Given the description of an element on the screen output the (x, y) to click on. 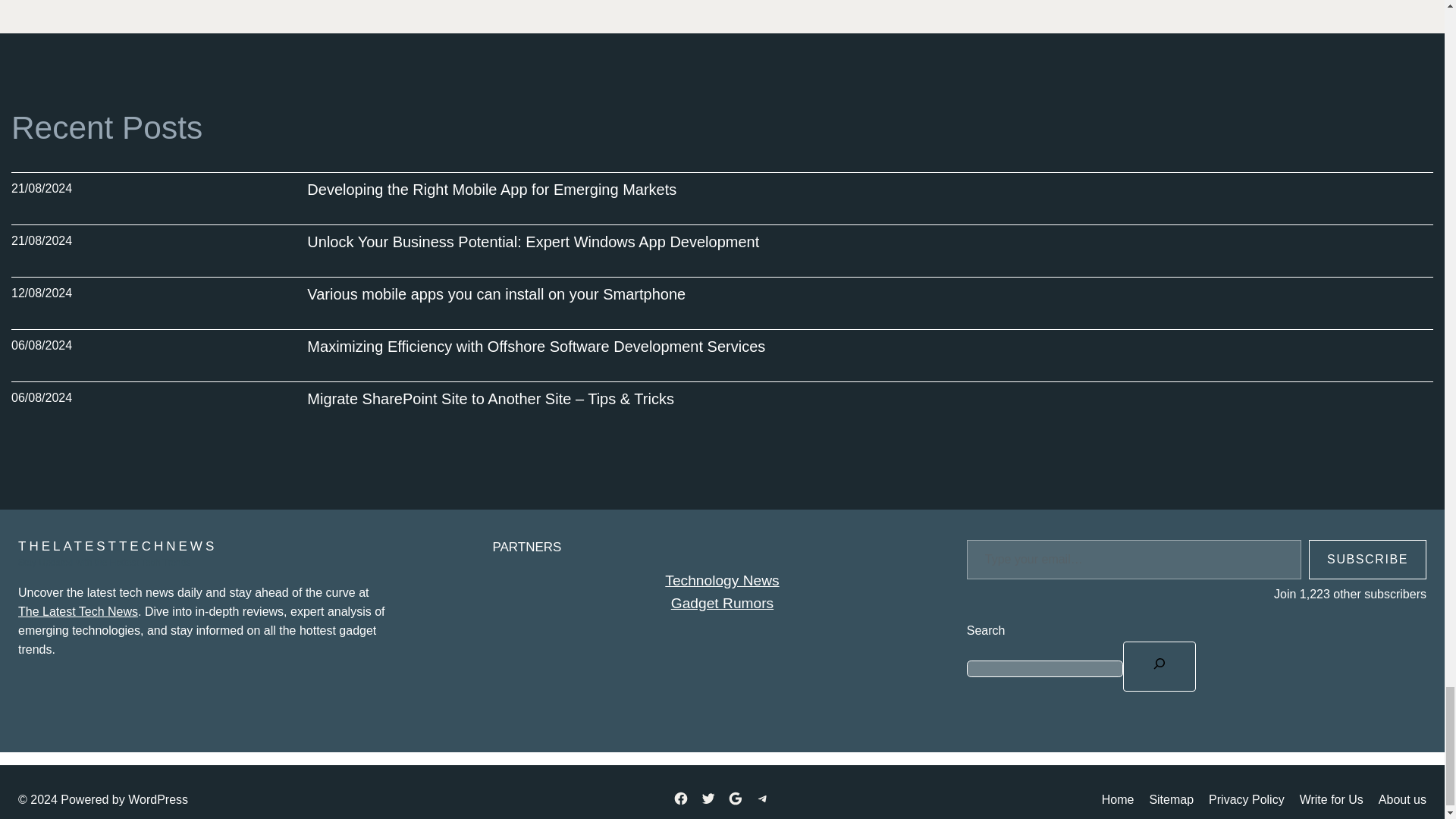
Please fill in this field. (1133, 559)
Privacy Policy (1246, 800)
Developing the Right Mobile App for Emerging Markets (492, 189)
Write for Us (1331, 800)
About us (1402, 800)
